Given the description of an element on the screen output the (x, y) to click on. 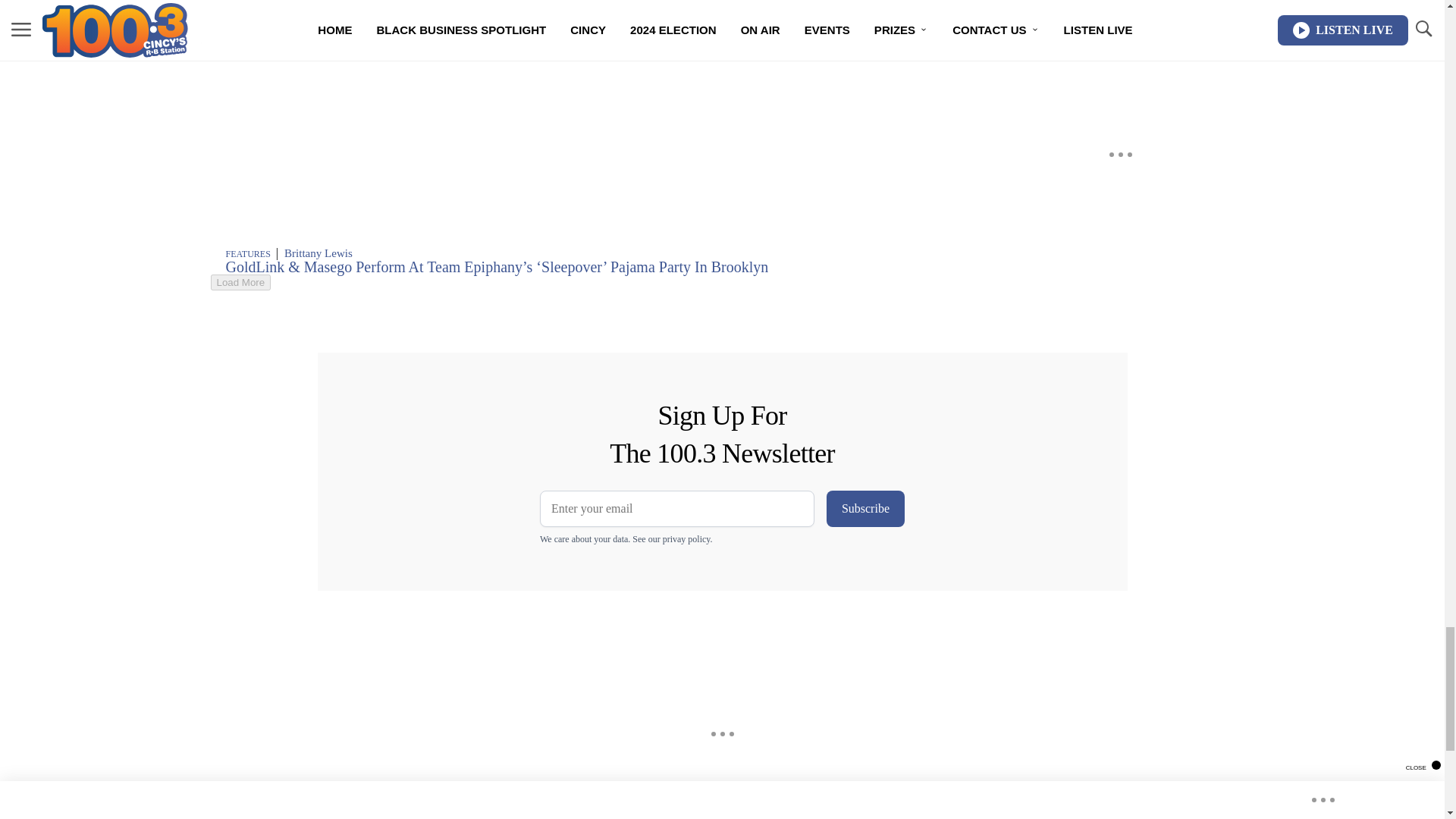
Media Playlist (596, 23)
Load More (596, 282)
Load More (240, 282)
